Given the description of an element on the screen output the (x, y) to click on. 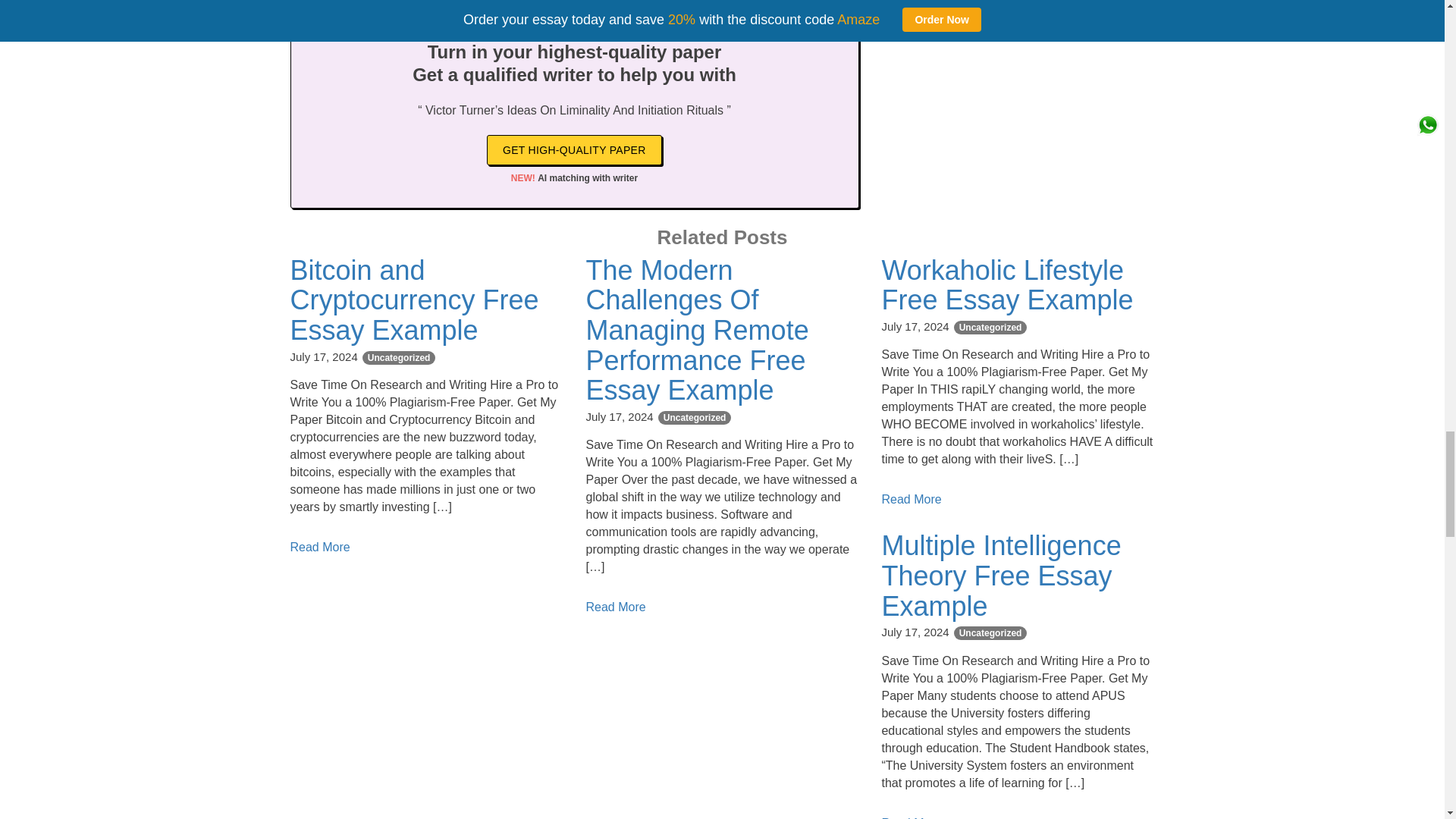
Uncategorized (398, 357)
Read More (319, 546)
Bitcoin and Cryptocurrency Free Essay Example (413, 299)
GET HIGH-QUALITY PAPER (574, 150)
Uncategorized (695, 418)
Read More (910, 817)
Multiple Intelligence Theory Free Essay Example (1000, 574)
Workaholic Lifestyle Free Essay Example (1006, 285)
Read More (910, 499)
Uncategorized (990, 632)
Read More (615, 606)
Uncategorized (990, 327)
